Given the description of an element on the screen output the (x, y) to click on. 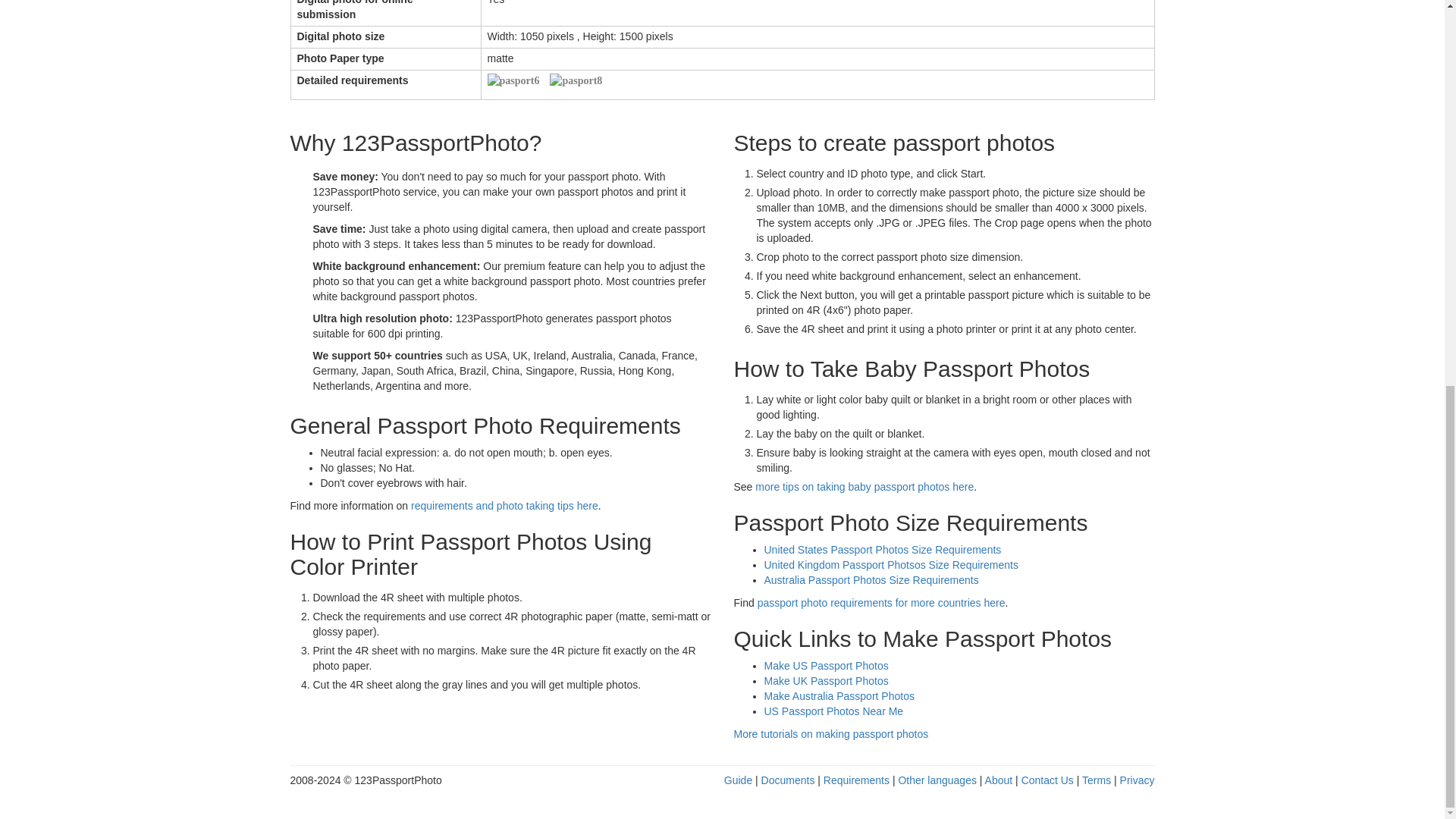
Make Australia Passport Photos (839, 695)
Make US Passport Photos (826, 665)
Make UK Passport Photos (826, 680)
Contact Us (1048, 779)
About (999, 779)
requirements and photo taking tips here (504, 505)
Documents (788, 779)
Other languages (937, 779)
passport photo requirements for more countries here (881, 603)
Terms (1095, 779)
Australia Passport Photos Size Requirements (871, 580)
Requirements (856, 779)
United States Passport Photos Size Requirements (882, 549)
More tutorials on making passport photos (830, 734)
Guide (737, 779)
